Given the description of an element on the screen output the (x, y) to click on. 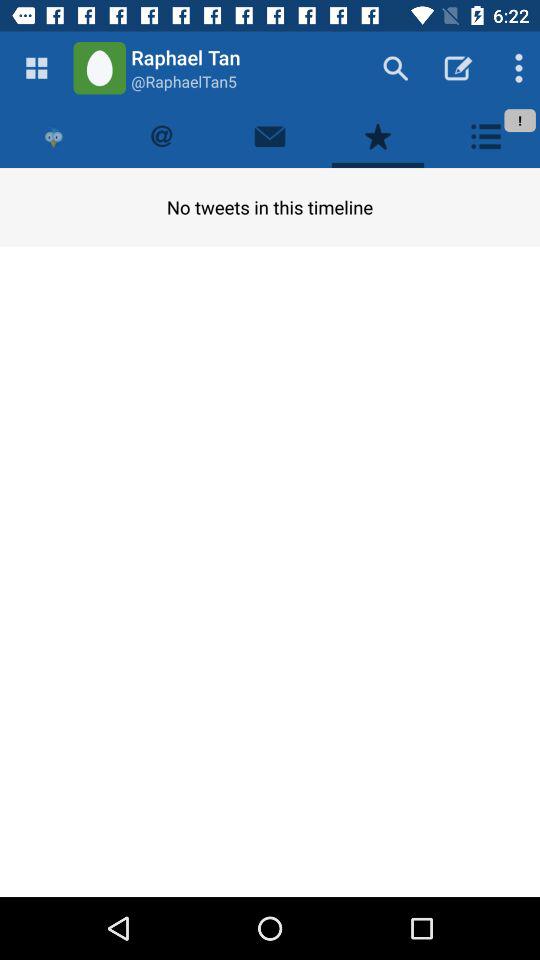
open icon above no tweets in (270, 136)
